Given the description of an element on the screen output the (x, y) to click on. 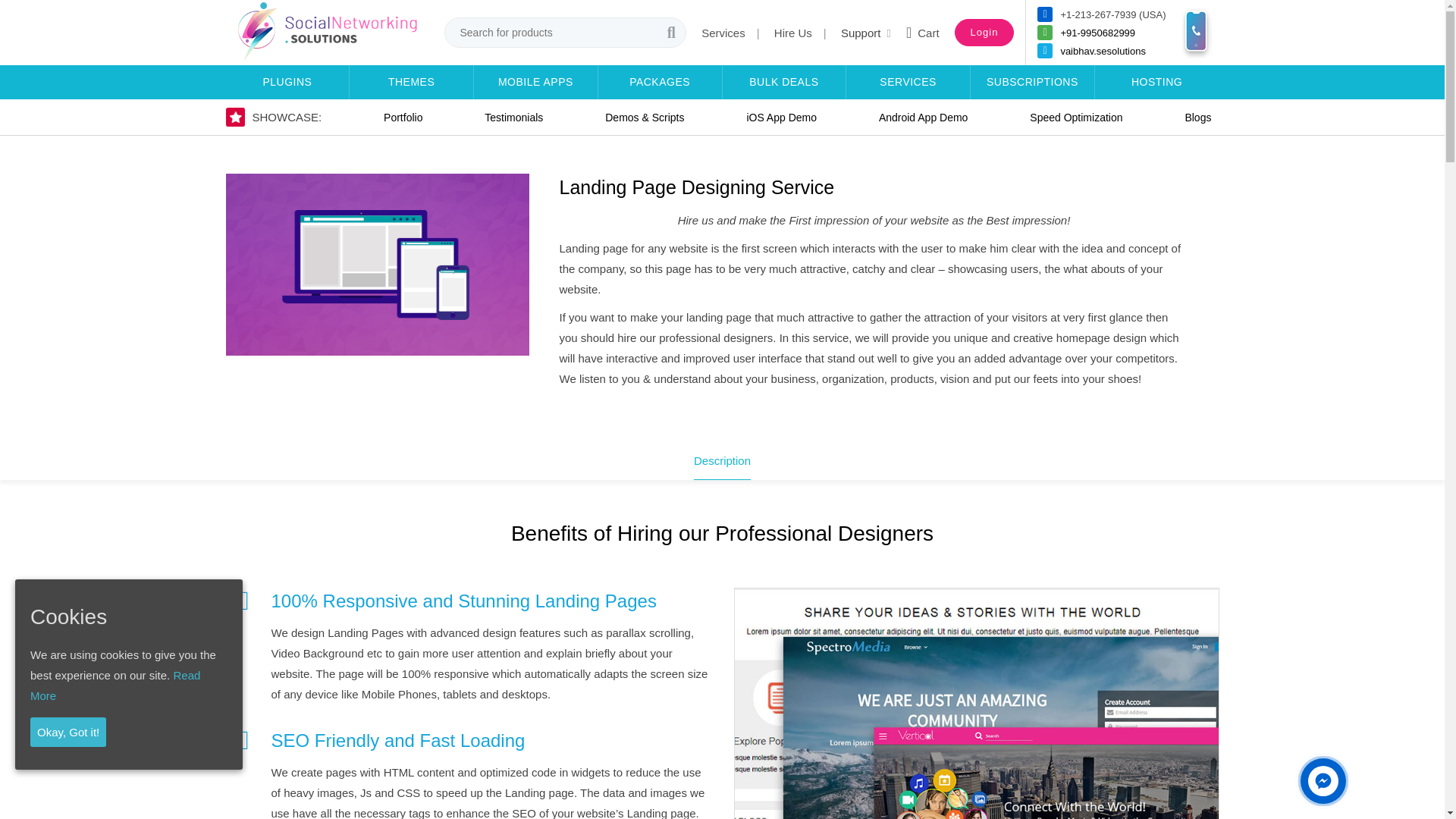
BULK DEALS (783, 82)
PACKAGES (660, 82)
Landing-Page (377, 264)
SUBSCRIPTIONS (1032, 82)
Android App Demo (922, 117)
View your shopping cart (922, 32)
Portfolio (402, 117)
iOS App Demo (781, 117)
THEMES (411, 82)
PLUGINS (287, 82)
Cart (922, 32)
HOSTING (1157, 82)
SERVICES (907, 82)
Testimonials (513, 117)
Support (866, 31)
